Given the description of an element on the screen output the (x, y) to click on. 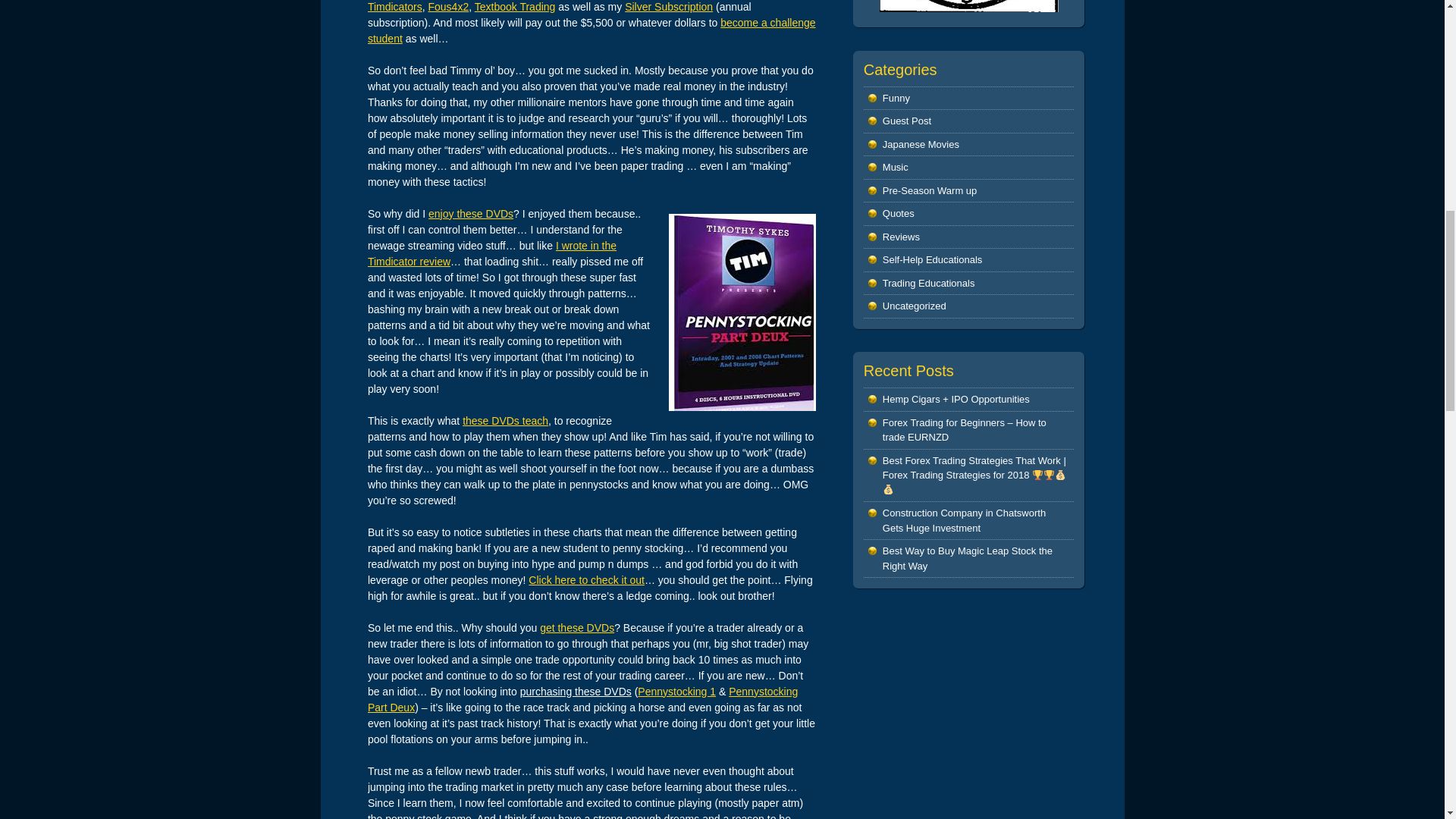
Fous4x2 (448, 6)
Timdicators (395, 6)
Click here to check it out (586, 580)
get these DVDs (577, 627)
become a challenge student (591, 30)
Textbook Trading (515, 6)
Purchase InvestorsLive Textbook Trading Educational DVD Here (515, 6)
I wrote in the Timdicator review (491, 253)
Pennystocking 1 (676, 691)
Pennystocking Part Deux (582, 699)
enjoy these DVDs (470, 214)
The Fous4x2 Trading DVD Educational Series Part 2 (448, 6)
these DVDs teach (505, 420)
Silver Subscription (668, 6)
